Given the description of an element on the screen output the (x, y) to click on. 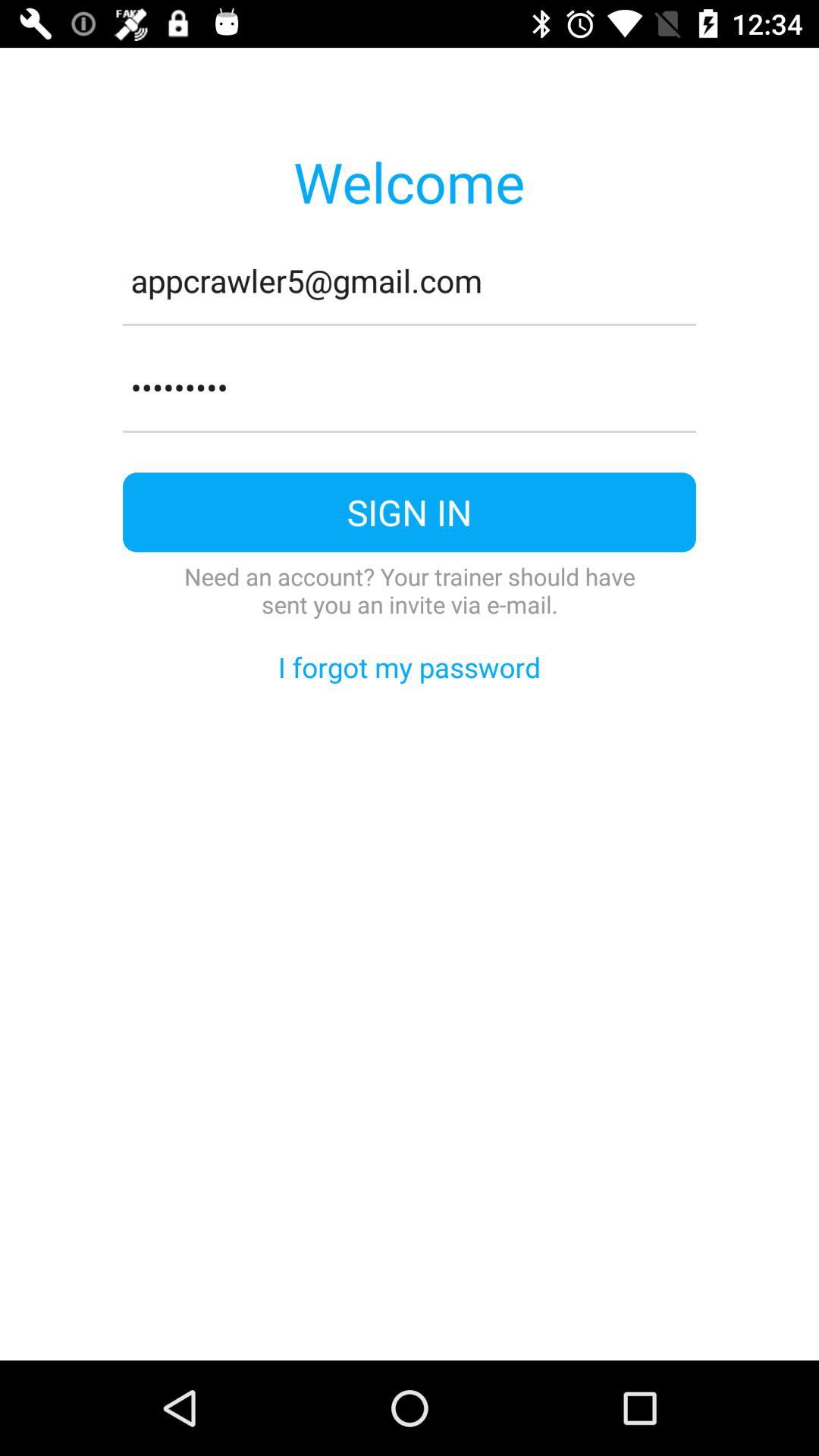
scroll to sign in item (409, 512)
